Given the description of an element on the screen output the (x, y) to click on. 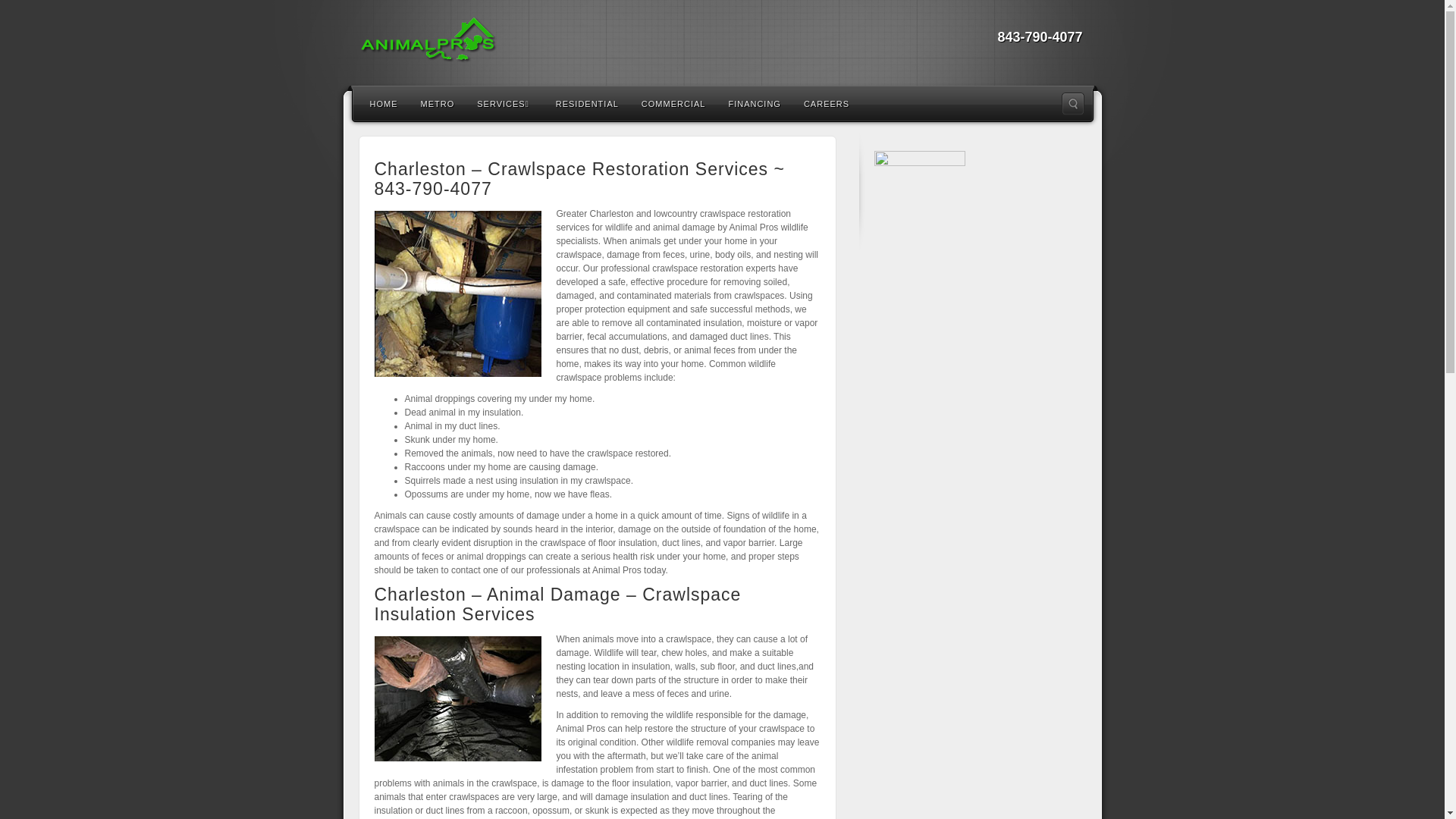
HOME (383, 103)
Search the site... (1072, 103)
Charleston (722, 41)
Commercial Services (673, 103)
COMMERCIAL (673, 103)
METRO (437, 103)
CAREERS (826, 103)
SERVICES (504, 103)
Search the site... (1072, 103)
FINANCING (754, 103)
